Given the description of an element on the screen output the (x, y) to click on. 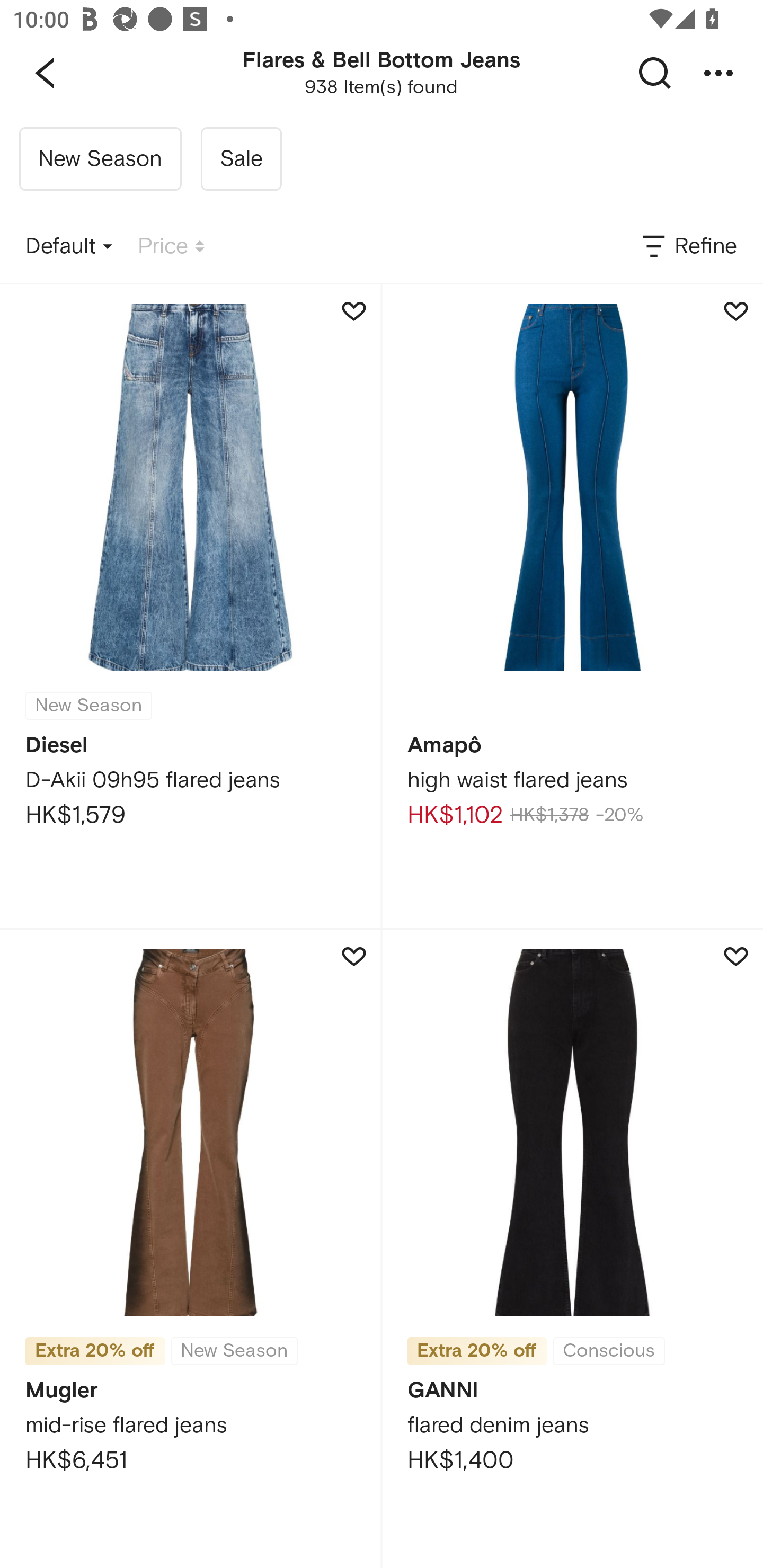
New Season (100, 158)
Sale (240, 158)
Default (68, 246)
Price (171, 246)
Refine (688, 246)
Extra 20% off (94, 1351)
Extra 20% off (477, 1351)
